Given the description of an element on the screen output the (x, y) to click on. 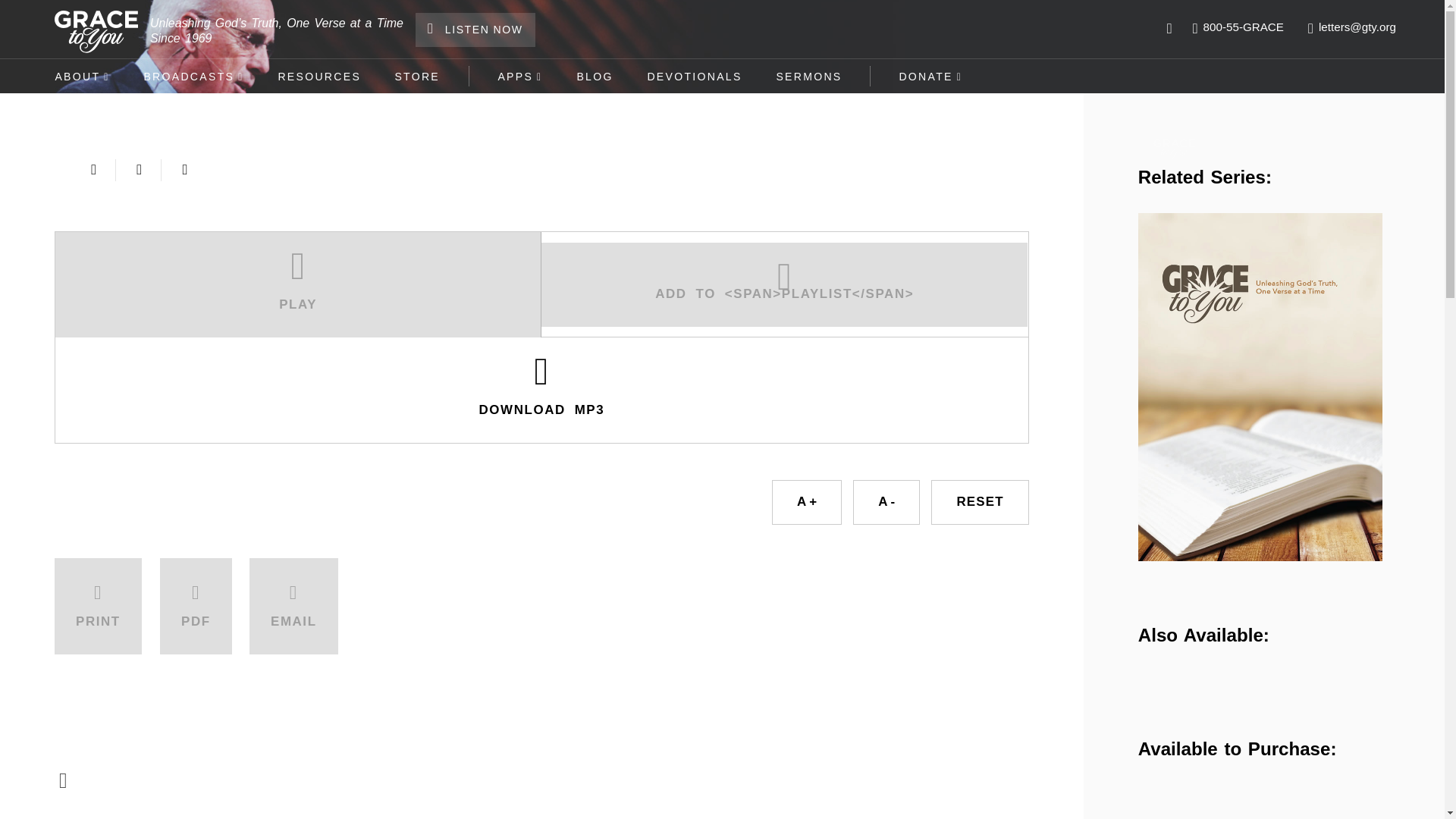
LISTEN NOW (474, 29)
DEVOTIONALS (694, 76)
APPS (519, 76)
DONATE (930, 76)
Grace-to-You (96, 32)
Grace to You (1174, 148)
STORE (417, 76)
BROADCASTS (193, 76)
Grace-to-You (96, 31)
800-55-GRACE (1237, 28)
